Given the description of an element on the screen output the (x, y) to click on. 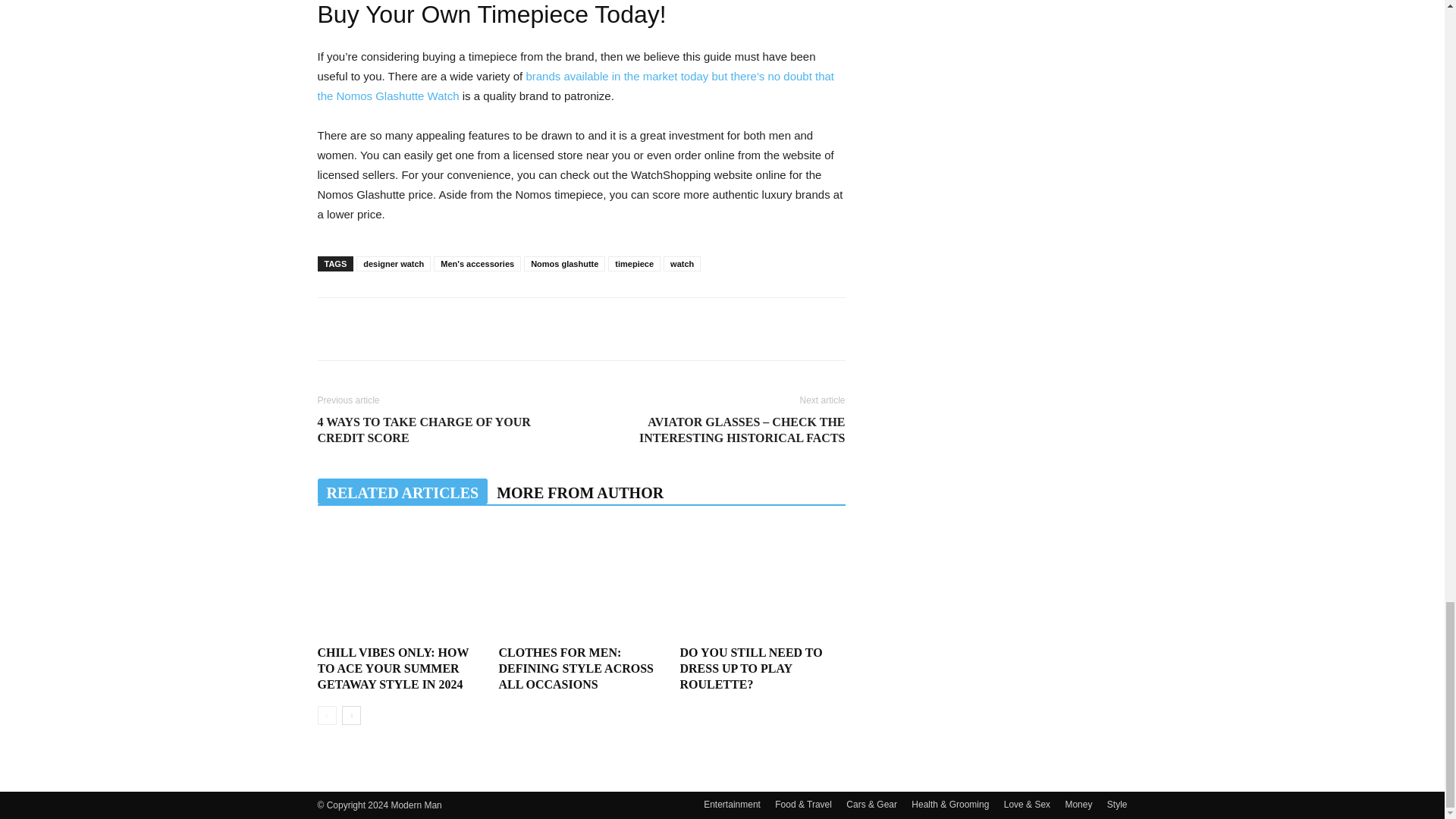
Do You Still Need to Dress Up to Play Roulette? (750, 668)
Clothes for Men: Defining Style Across All Occasions (580, 582)
Clothes for Men: Defining Style Across All Occasions (575, 668)
Do You Still Need to Dress Up to Play Roulette? (761, 582)
